Given the description of an element on the screen output the (x, y) to click on. 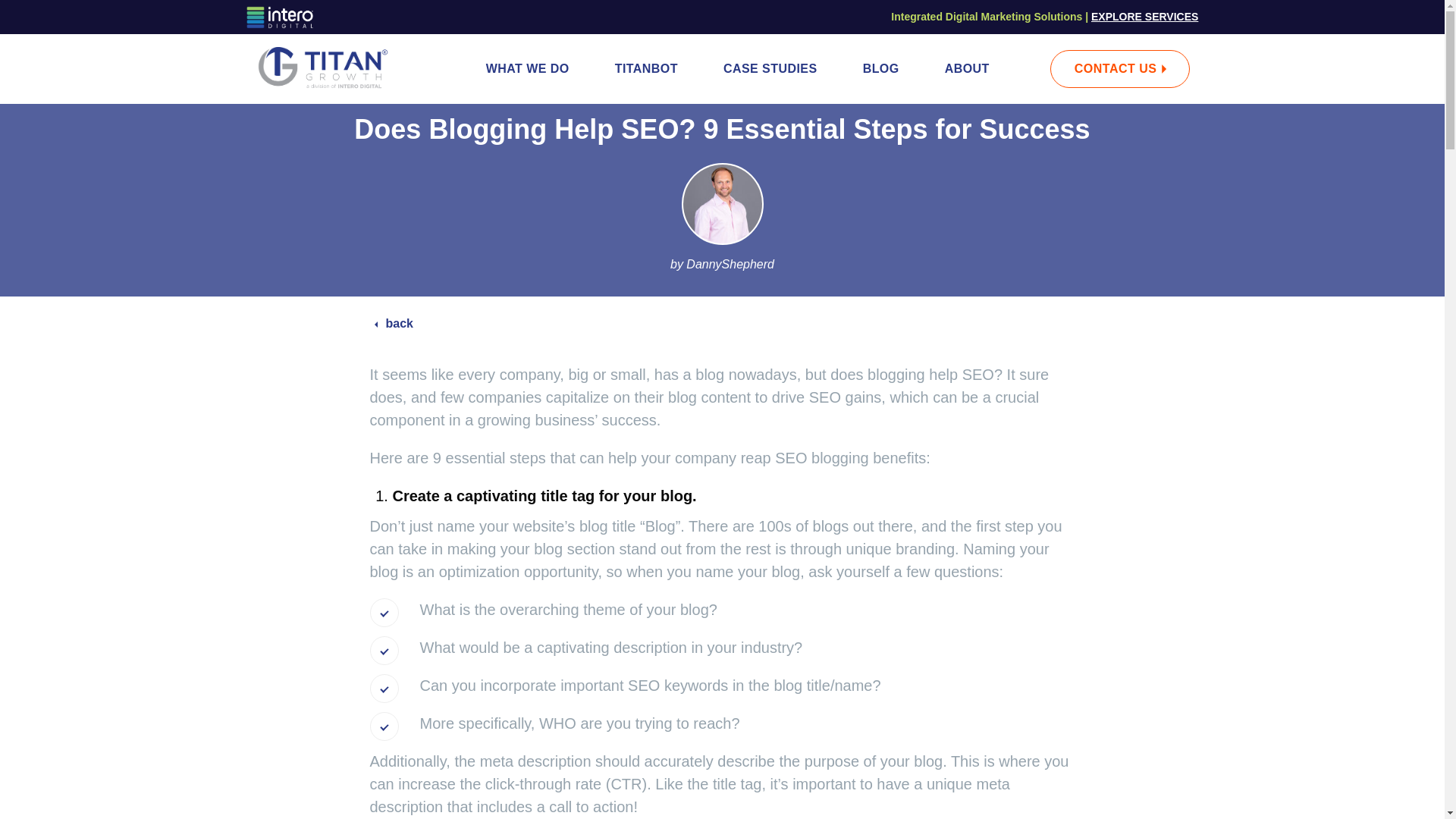
back (393, 323)
Digital Marketing Services (1144, 16)
CASE STUDIES (770, 69)
CONTACT US (1119, 68)
EXPLORE SERVICES (1144, 16)
ABOUT (966, 69)
back (393, 323)
BLOG (880, 69)
TITANBOT (646, 69)
WHAT WE DO (527, 69)
